Given the description of an element on the screen output the (x, y) to click on. 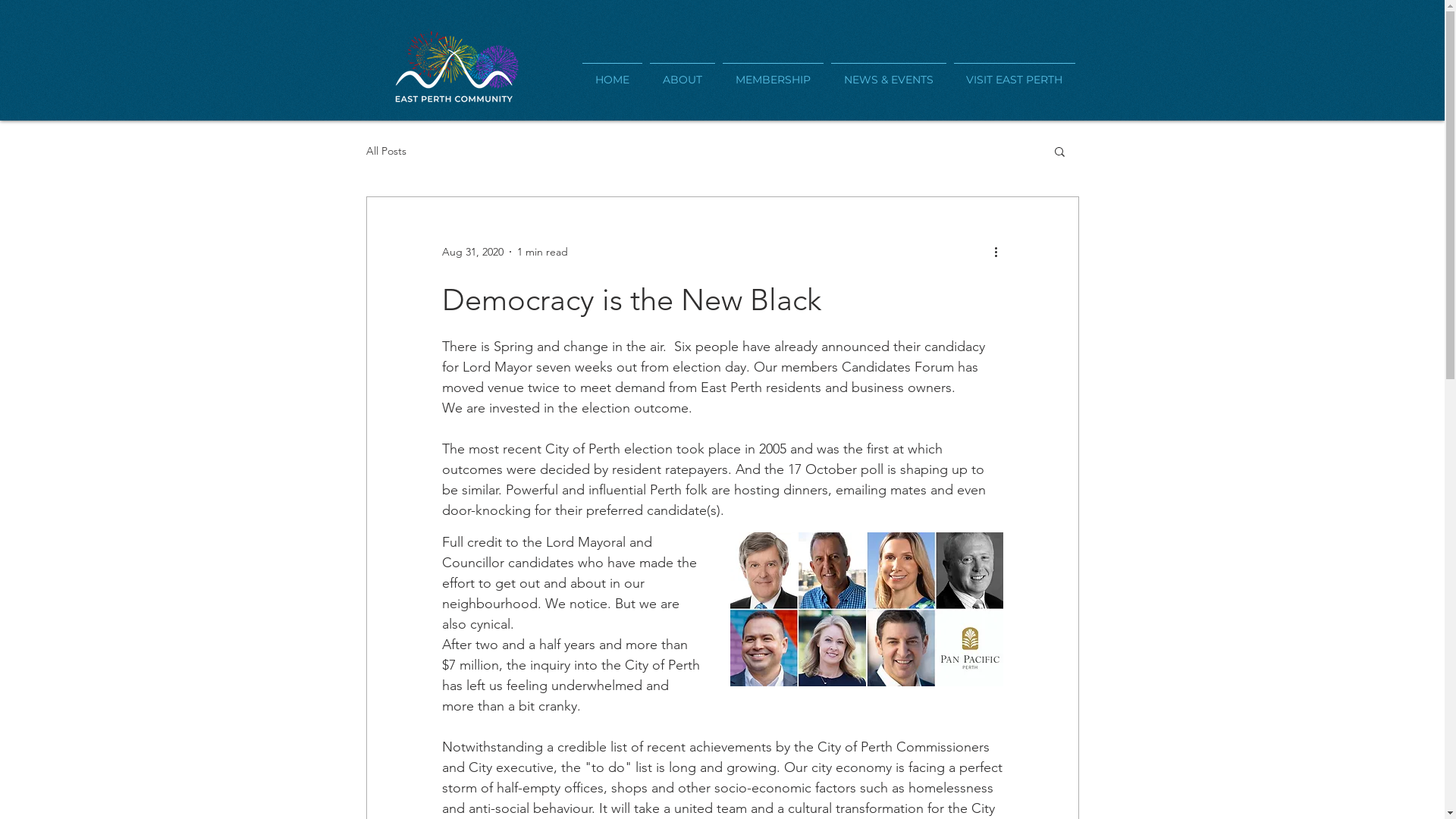
HOME Element type: text (611, 72)
All Posts Element type: text (385, 150)
VISIT EAST PERTH Element type: text (1013, 72)
MEMBERSHIP Element type: text (772, 72)
ABOUT Element type: text (682, 72)
NEWS & EVENTS Element type: text (887, 72)
